Given the description of an element on the screen output the (x, y) to click on. 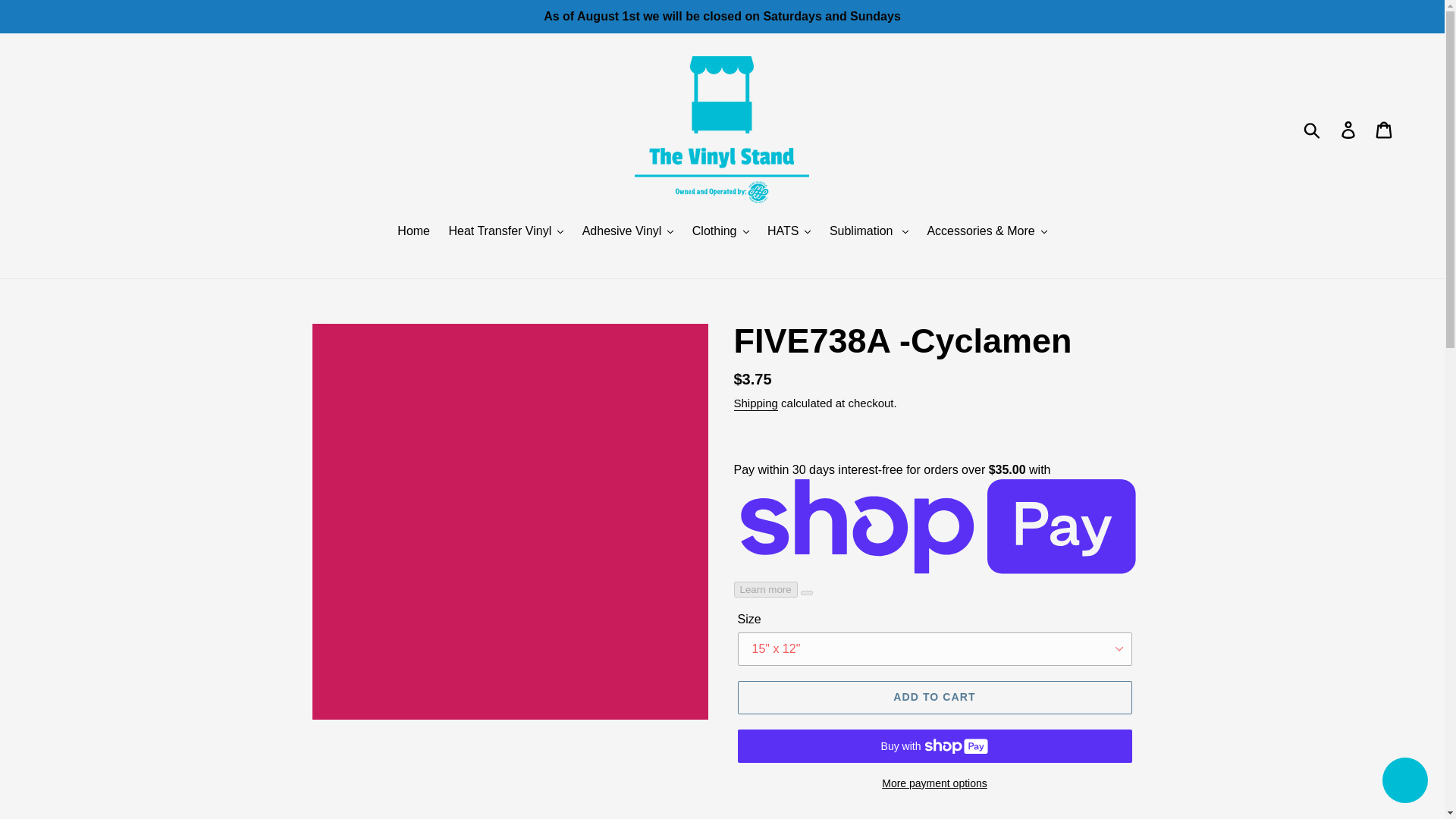
Shopify online store chat (1404, 781)
Log in (1349, 129)
Cart (1385, 129)
Submit (1313, 129)
